Given the description of an element on the screen output the (x, y) to click on. 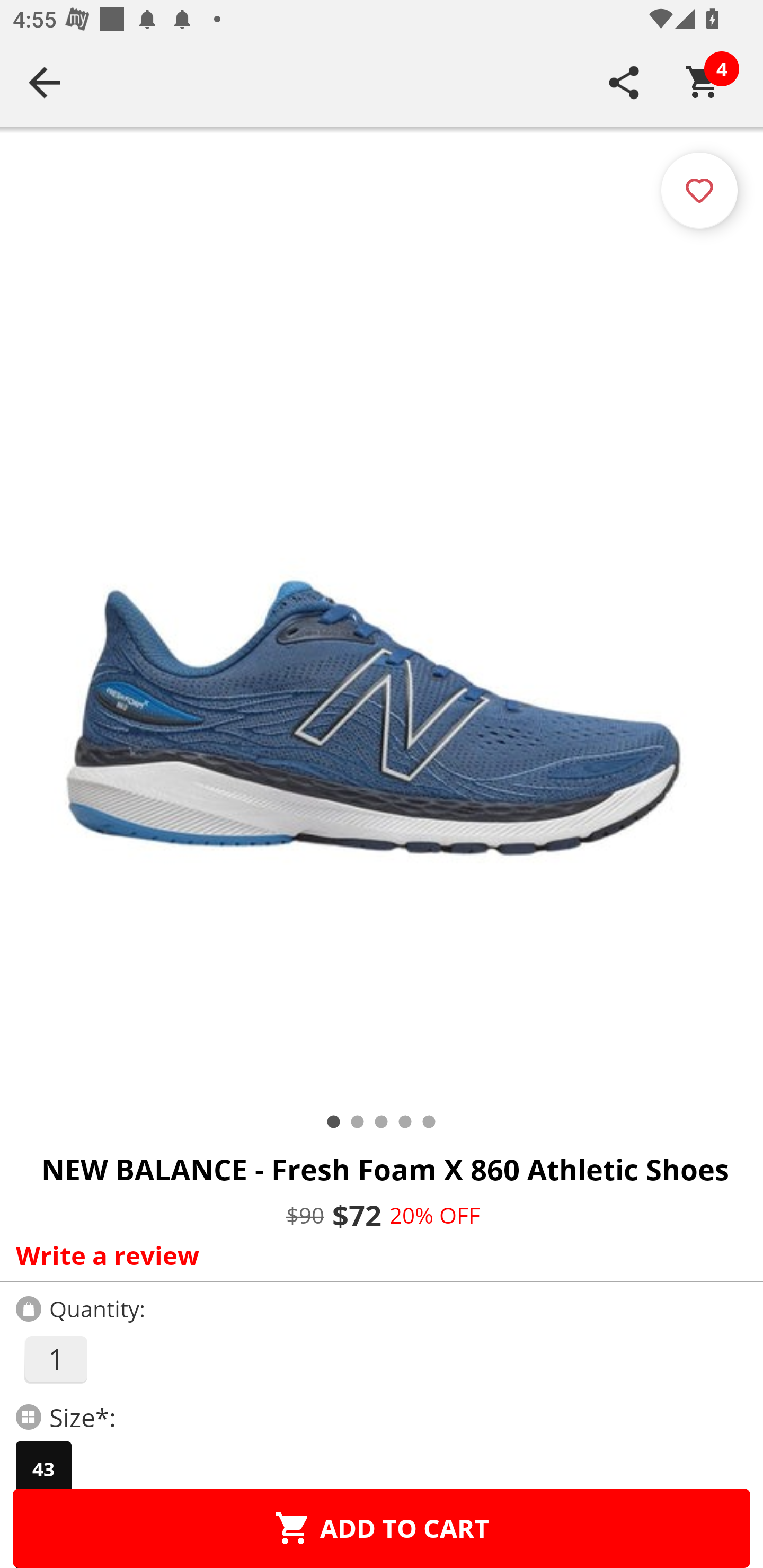
Navigate up (44, 82)
SHARE (623, 82)
Cart (703, 81)
Write a review (377, 1255)
1 (55, 1358)
43 (43, 1468)
ADD TO CART (381, 1528)
